Given the description of an element on the screen output the (x, y) to click on. 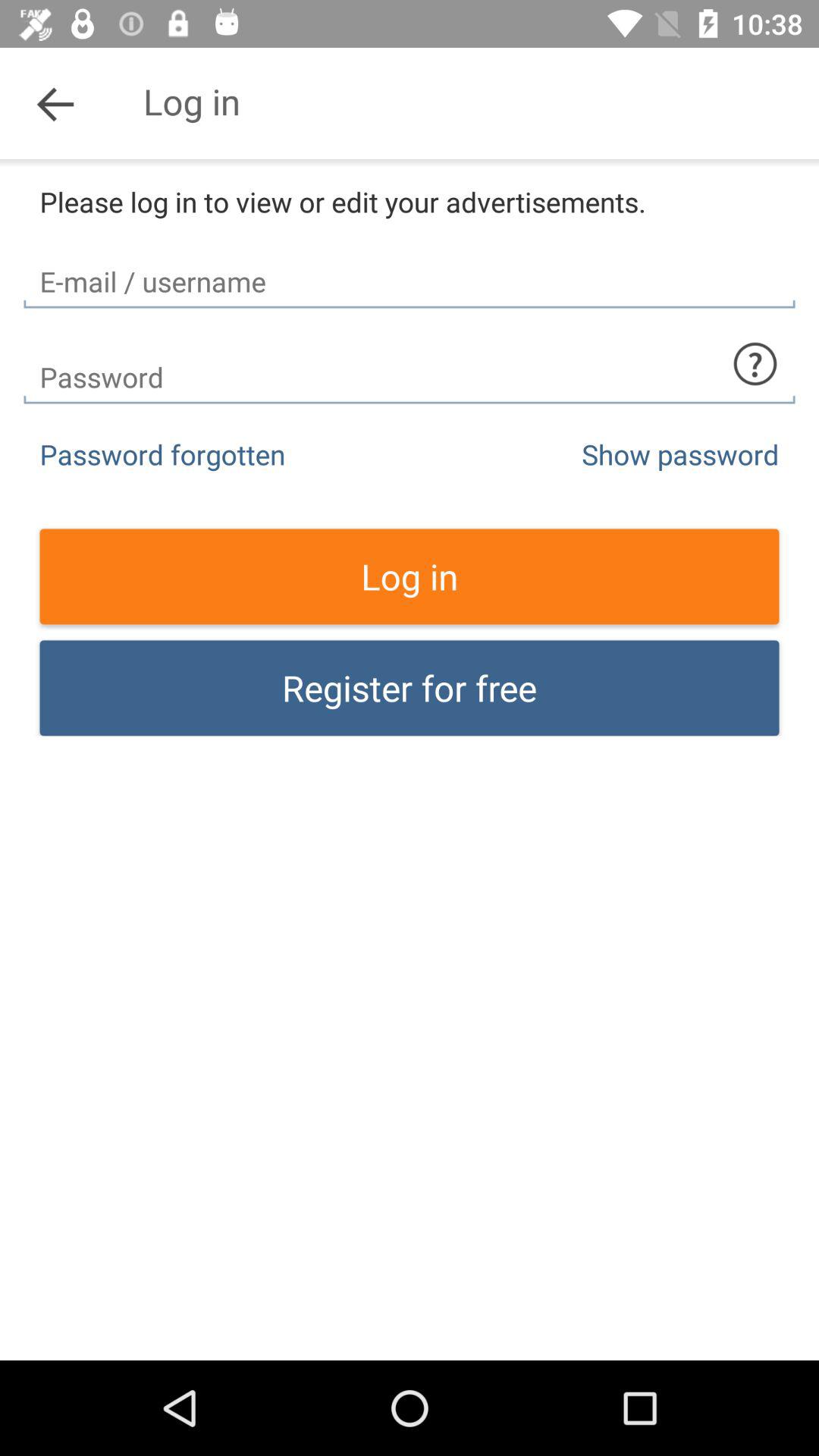
open register for free item (409, 687)
